Given the description of an element on the screen output the (x, y) to click on. 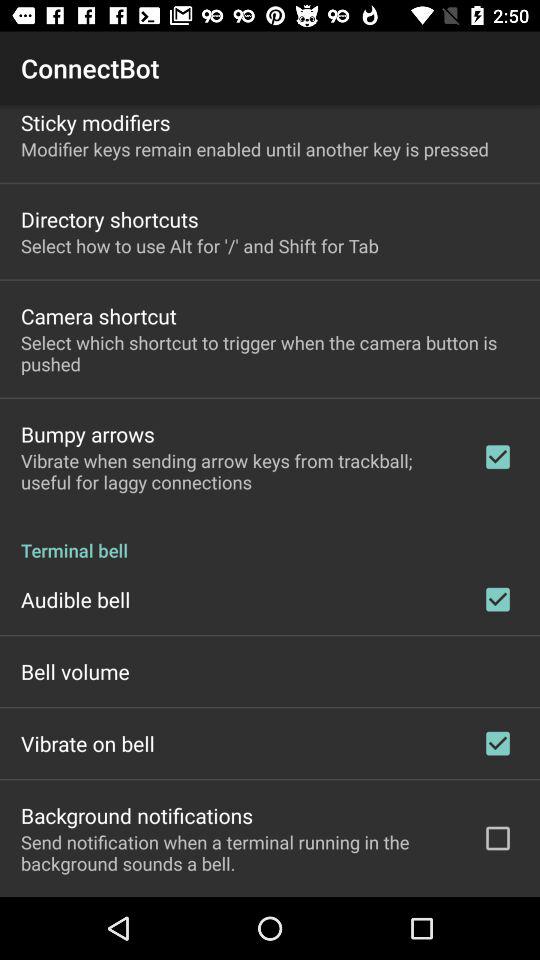
turn off the app below sticky modifiers icon (254, 148)
